Given the description of an element on the screen output the (x, y) to click on. 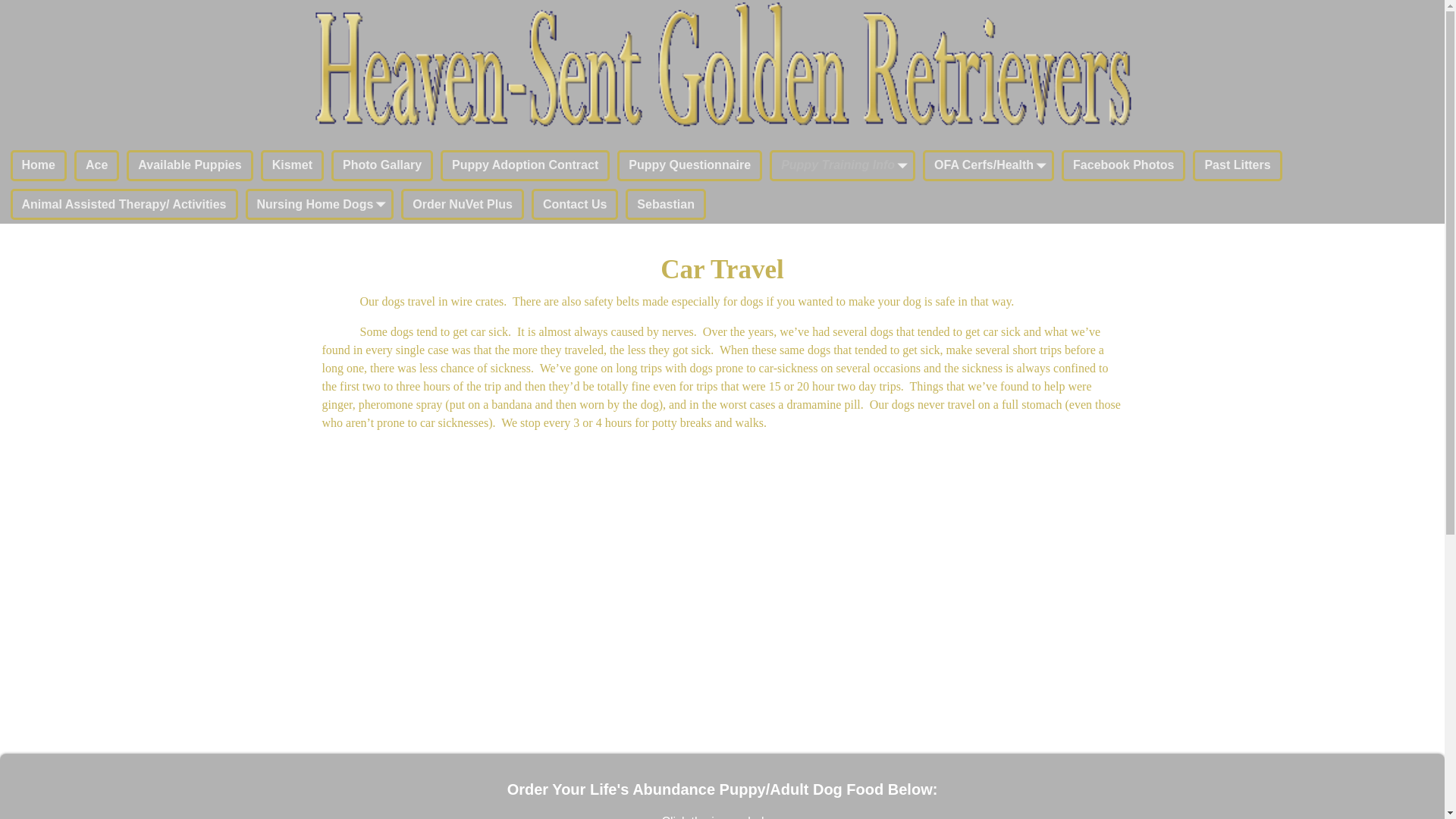
Photo Gallary (381, 164)
Puppy Training Info (842, 164)
Home (38, 164)
Puppy Adoption Contract (525, 164)
Kismet (291, 164)
Facebook Photos (1123, 164)
Home (38, 164)
Ace (96, 164)
Puppy Questionnaire (689, 164)
Available Puppies (188, 164)
